Given the description of an element on the screen output the (x, y) to click on. 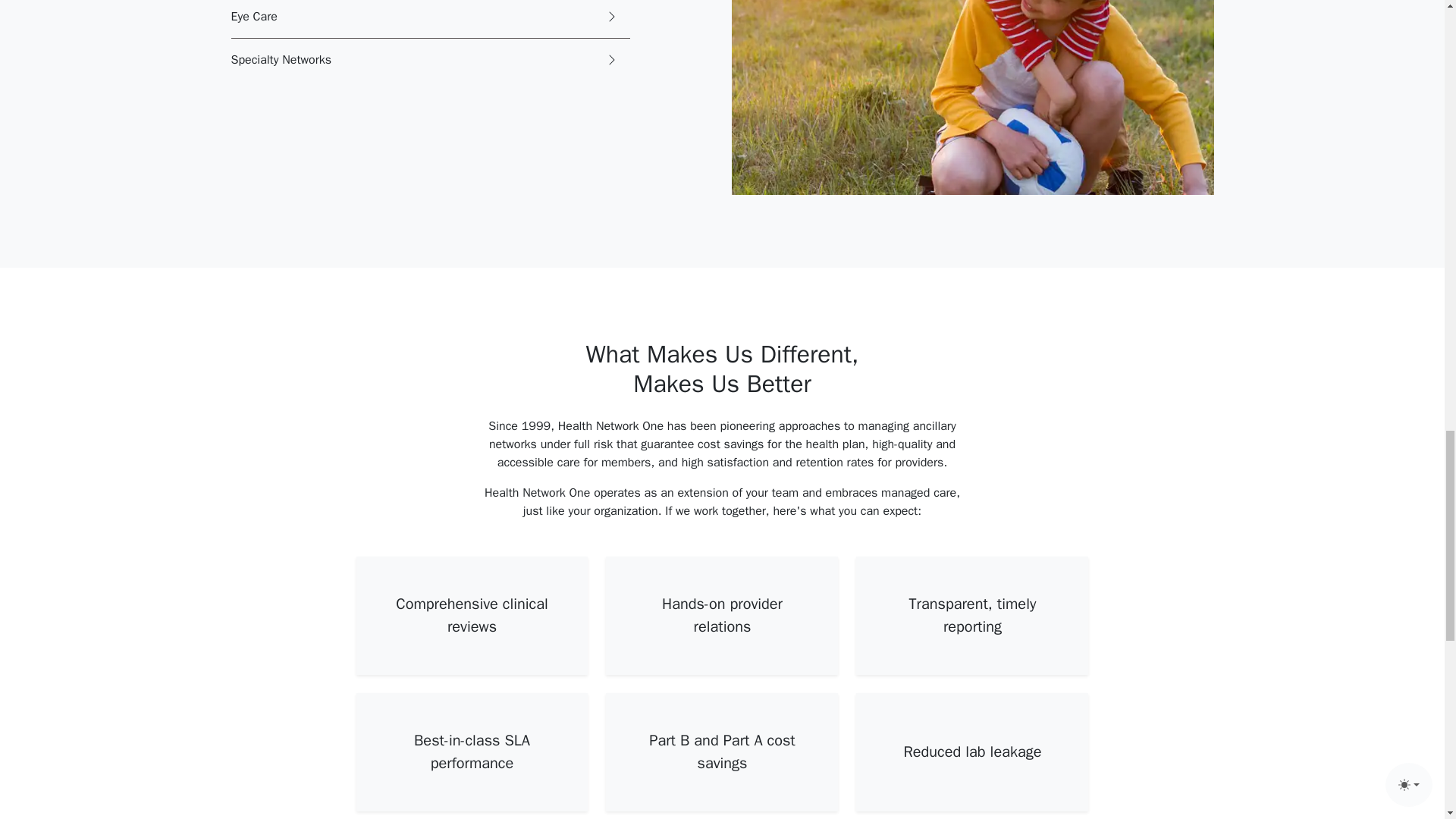
Specialty Networks (429, 59)
Eye Care (429, 19)
